Given the description of an element on the screen output the (x, y) to click on. 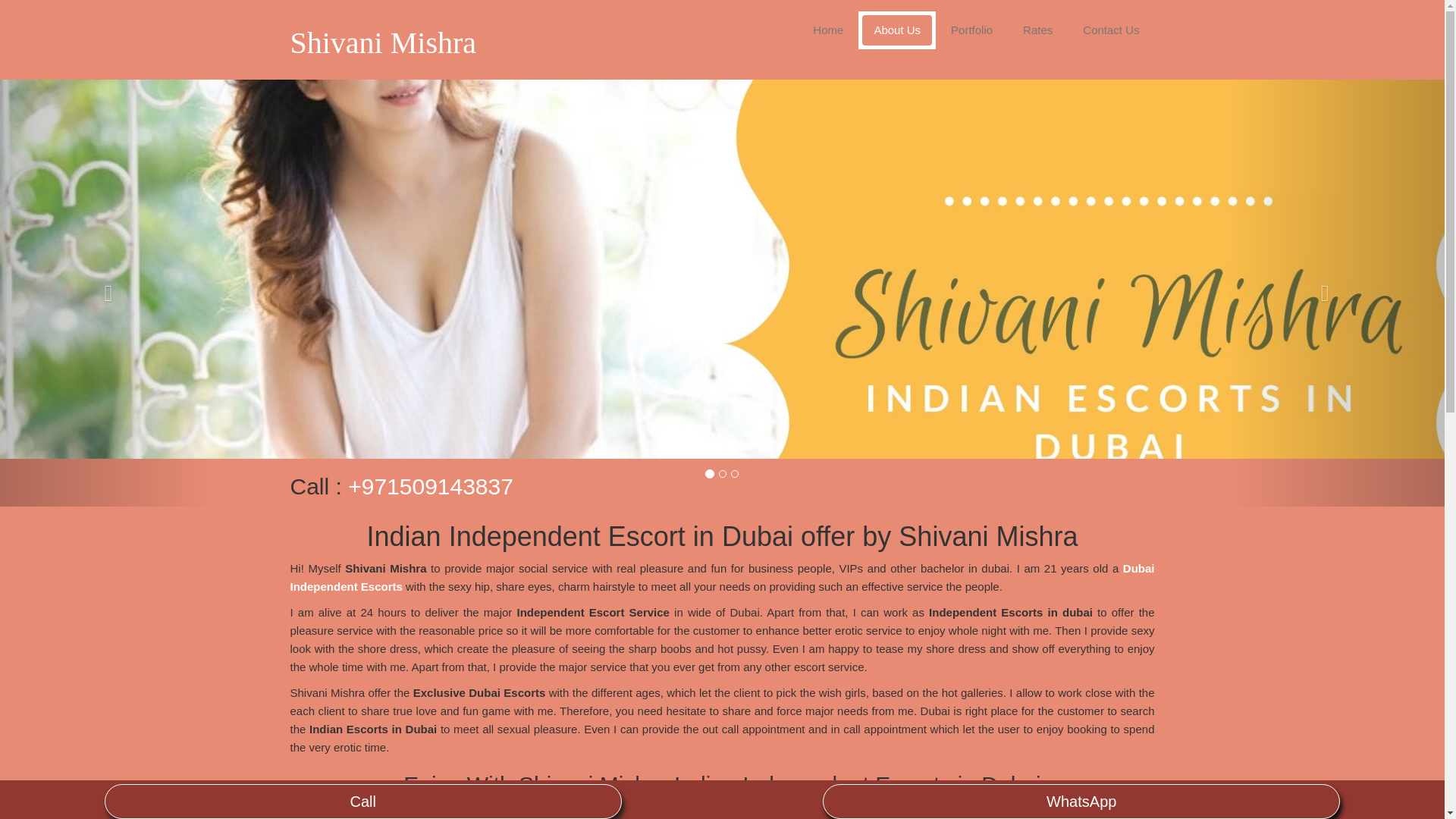
Portfolio (971, 30)
Rates (1037, 30)
About Us (896, 30)
Dubai Independent Escorts (721, 576)
Contact Us (1110, 30)
Home (828, 30)
